Given the description of an element on the screen output the (x, y) to click on. 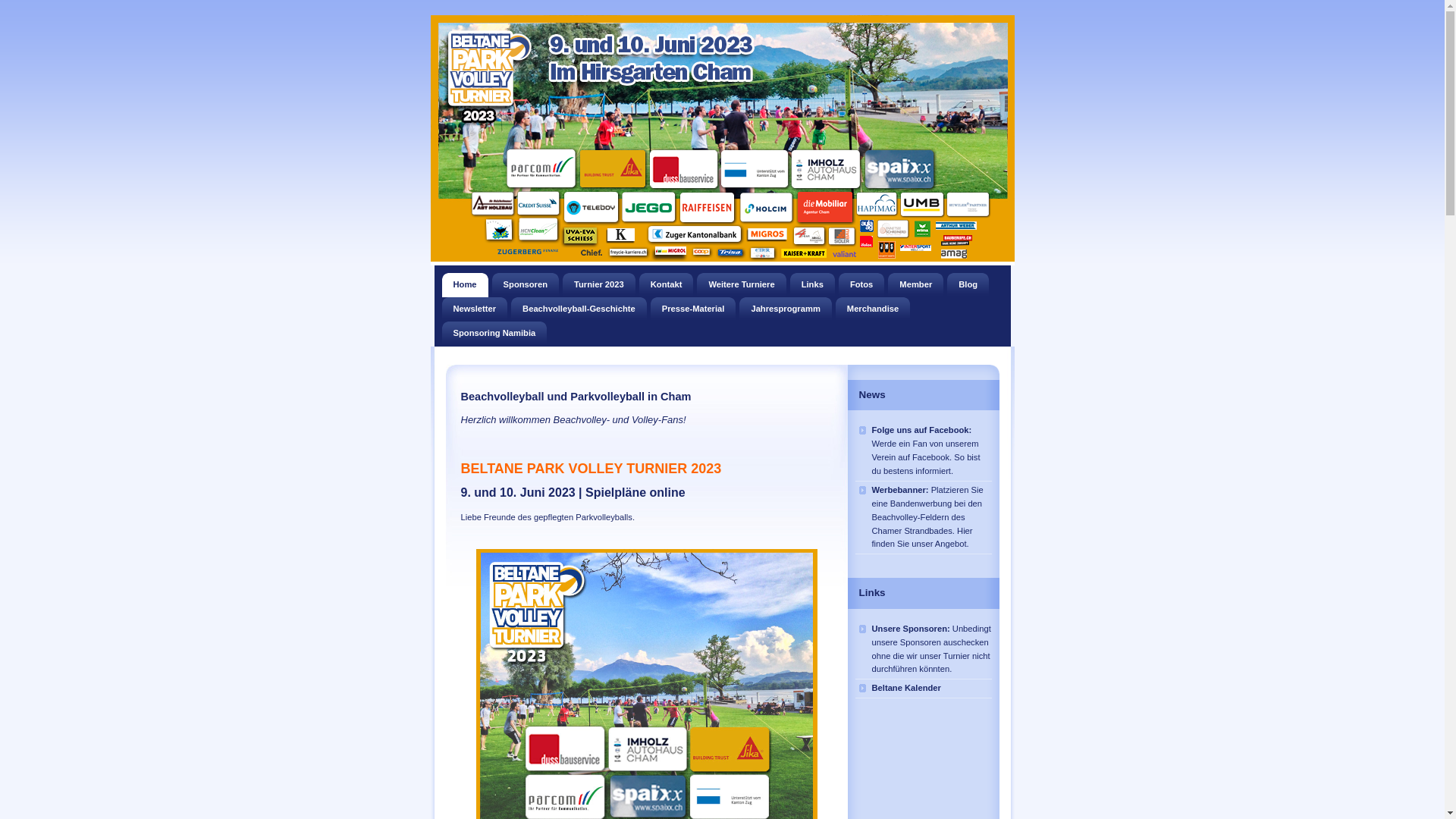
Blog
   Element type: text (967, 285)
Merchandise
   Element type: text (872, 309)
Links
   Element type: text (812, 285)
Turnier 2023
   Element type: text (598, 285)
Home
   Element type: text (464, 285)
Sponsoring Namibia
   Element type: text (493, 333)
Jahresprogramm
   Element type: text (785, 309)
Kontakt
   Element type: text (666, 285)
Presse-Material
   Element type: text (693, 309)
Beltane Kalender Element type: text (923, 688)
Newsletter
   Element type: text (474, 309)
Sponsoren
   Element type: text (525, 285)
Beachvolleyball-Geschichte
   Element type: text (578, 309)
Fotos
   Element type: text (861, 285)
Member
   Element type: text (915, 285)
Weitere Turniere
   Element type: text (740, 285)
